Given the description of an element on the screen output the (x, y) to click on. 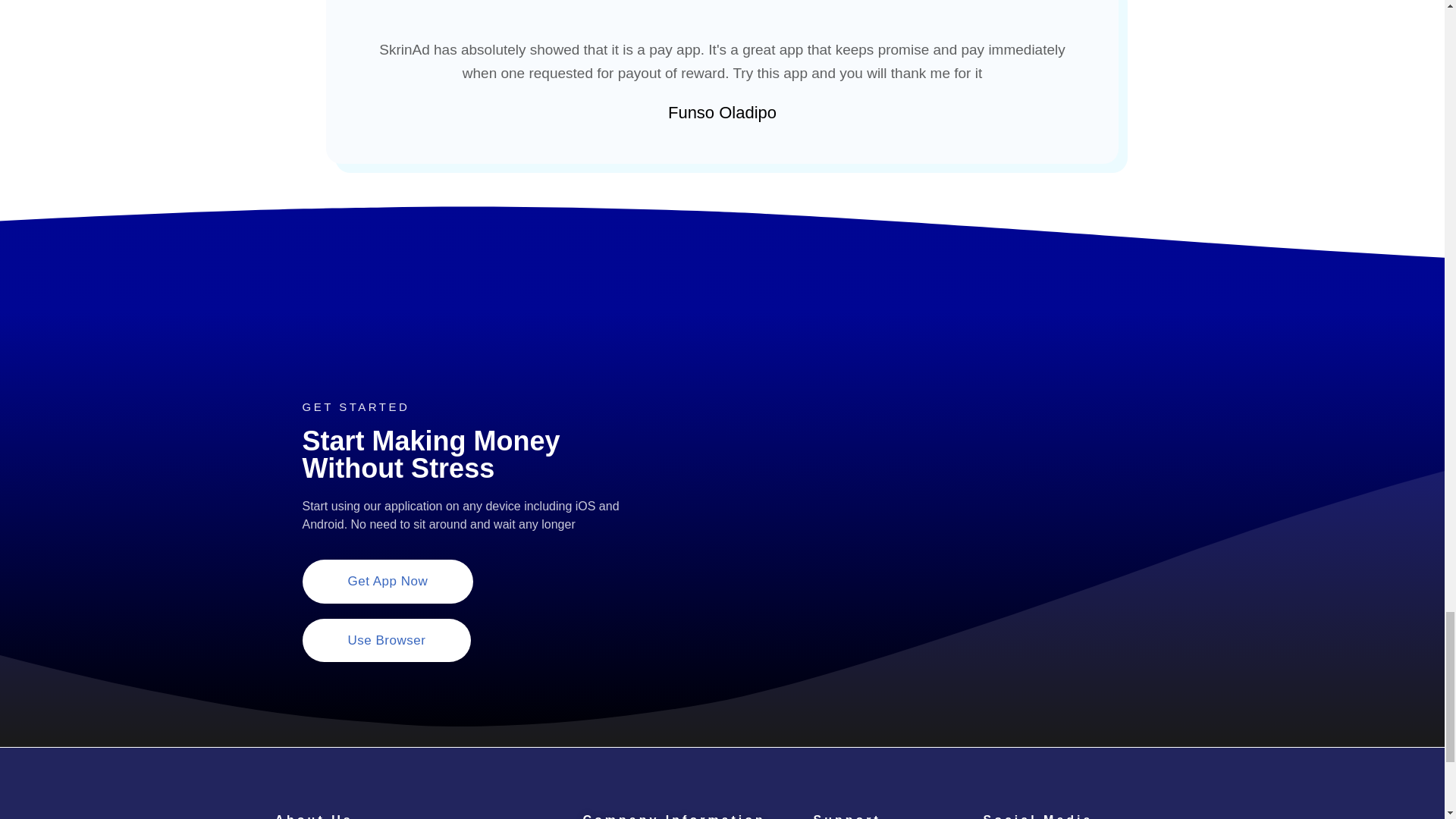
Use Browser (385, 640)
Get App Now (387, 581)
